Given the description of an element on the screen output the (x, y) to click on. 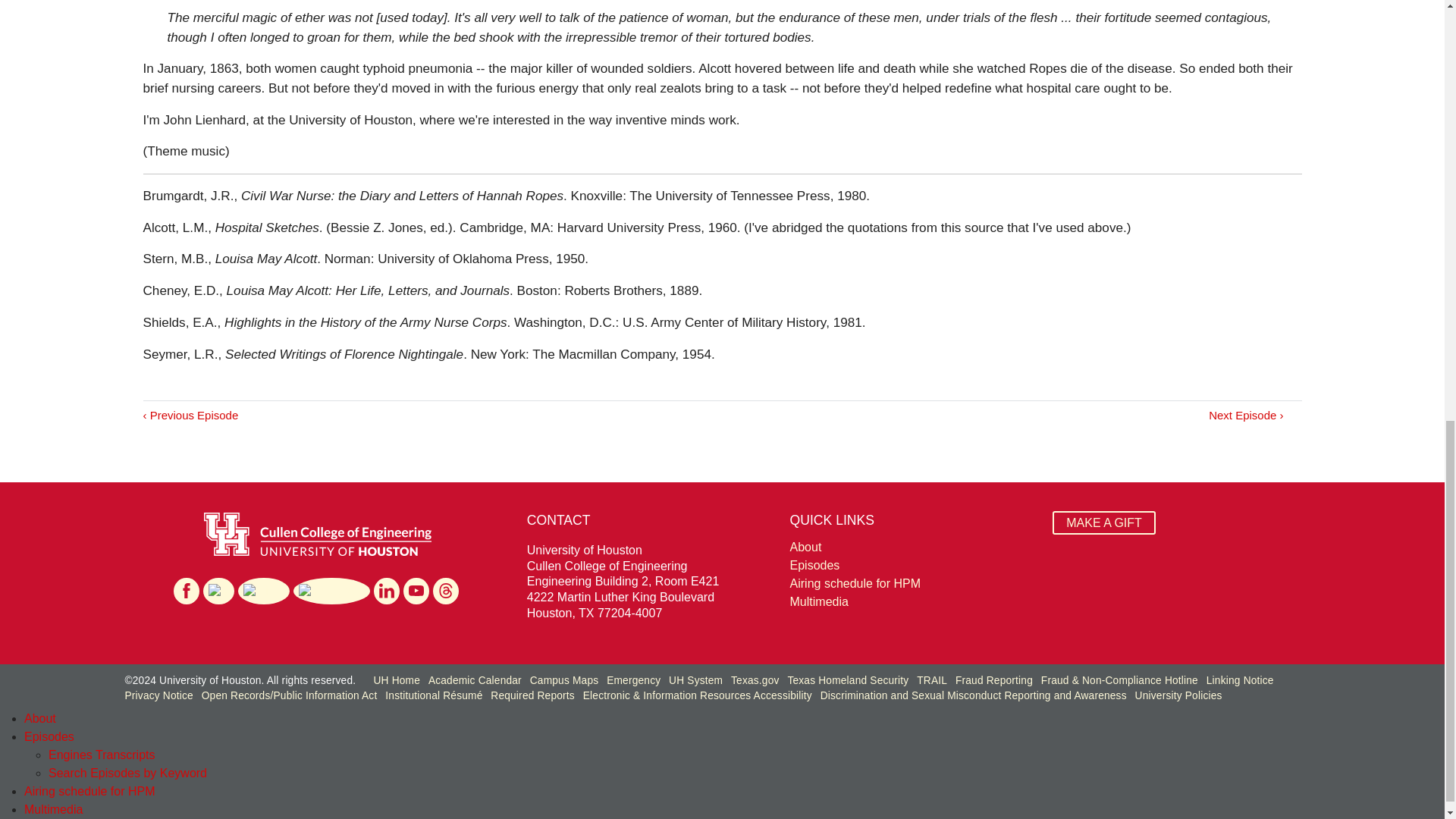
Search Episodes by Keyword (127, 772)
Multimedia (913, 601)
Texas.gov (754, 680)
MAKE A GIFT (1104, 522)
UH Home (396, 680)
Emergency (634, 680)
UH Home (396, 680)
Multimedia (913, 601)
Airing schedule for HPM (913, 583)
About (40, 717)
